Given the description of an element on the screen output the (x, y) to click on. 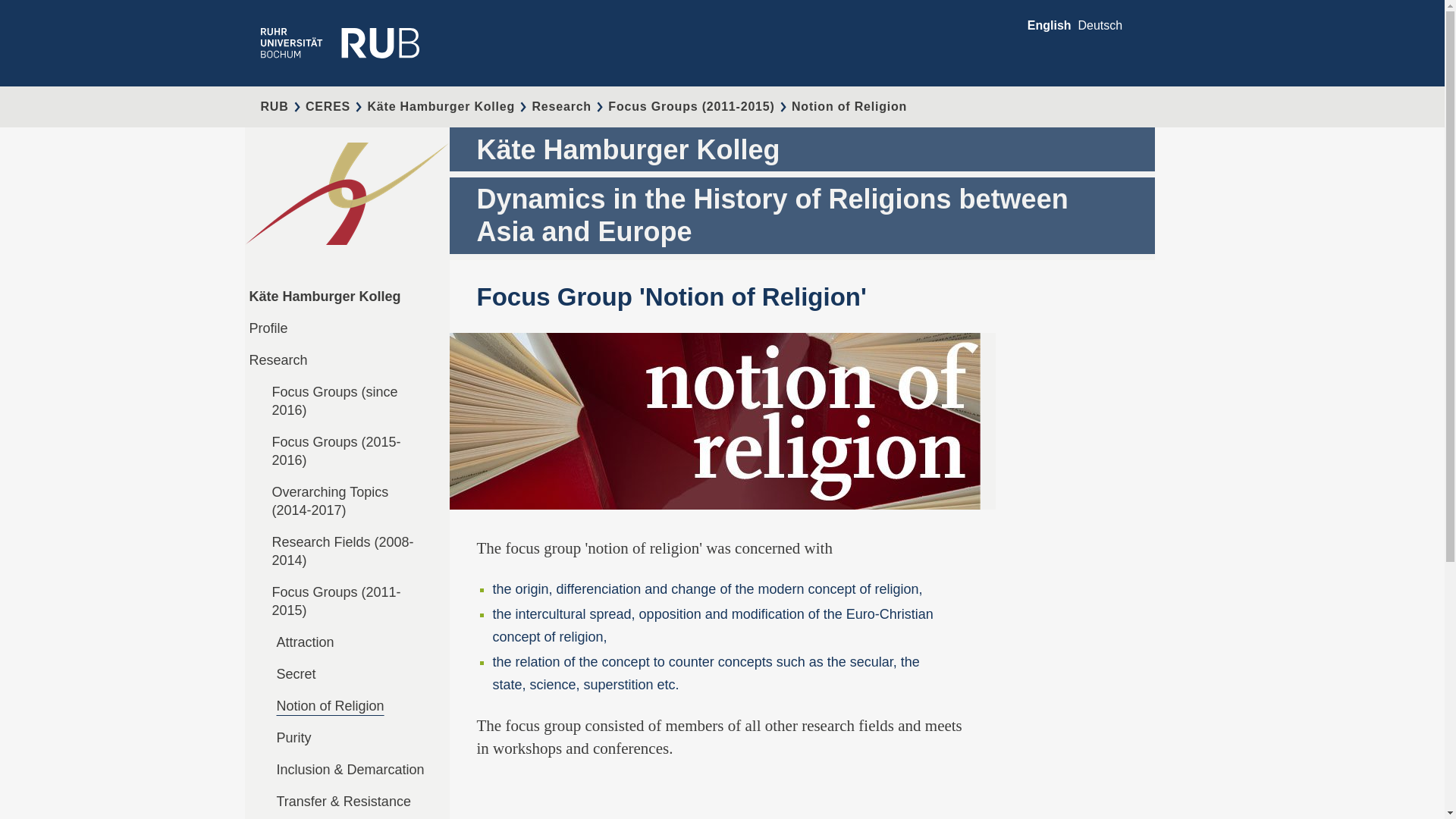
Deutsch (1099, 24)
Research (277, 359)
Research (561, 106)
CERES (327, 106)
RUB (274, 106)
Change to language: Deutsch (1099, 24)
Profile (267, 328)
